Given the description of an element on the screen output the (x, y) to click on. 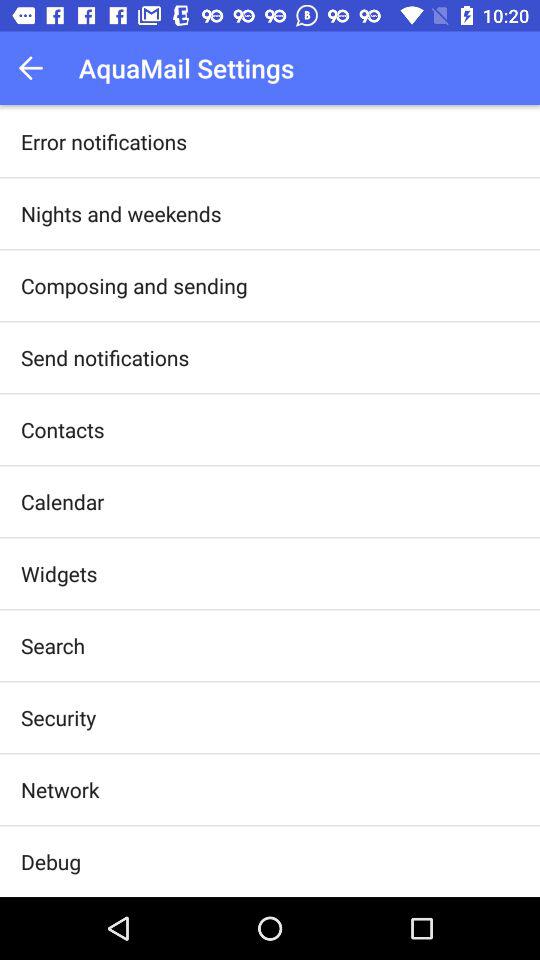
turn off the contacts icon (62, 429)
